Given the description of an element on the screen output the (x, y) to click on. 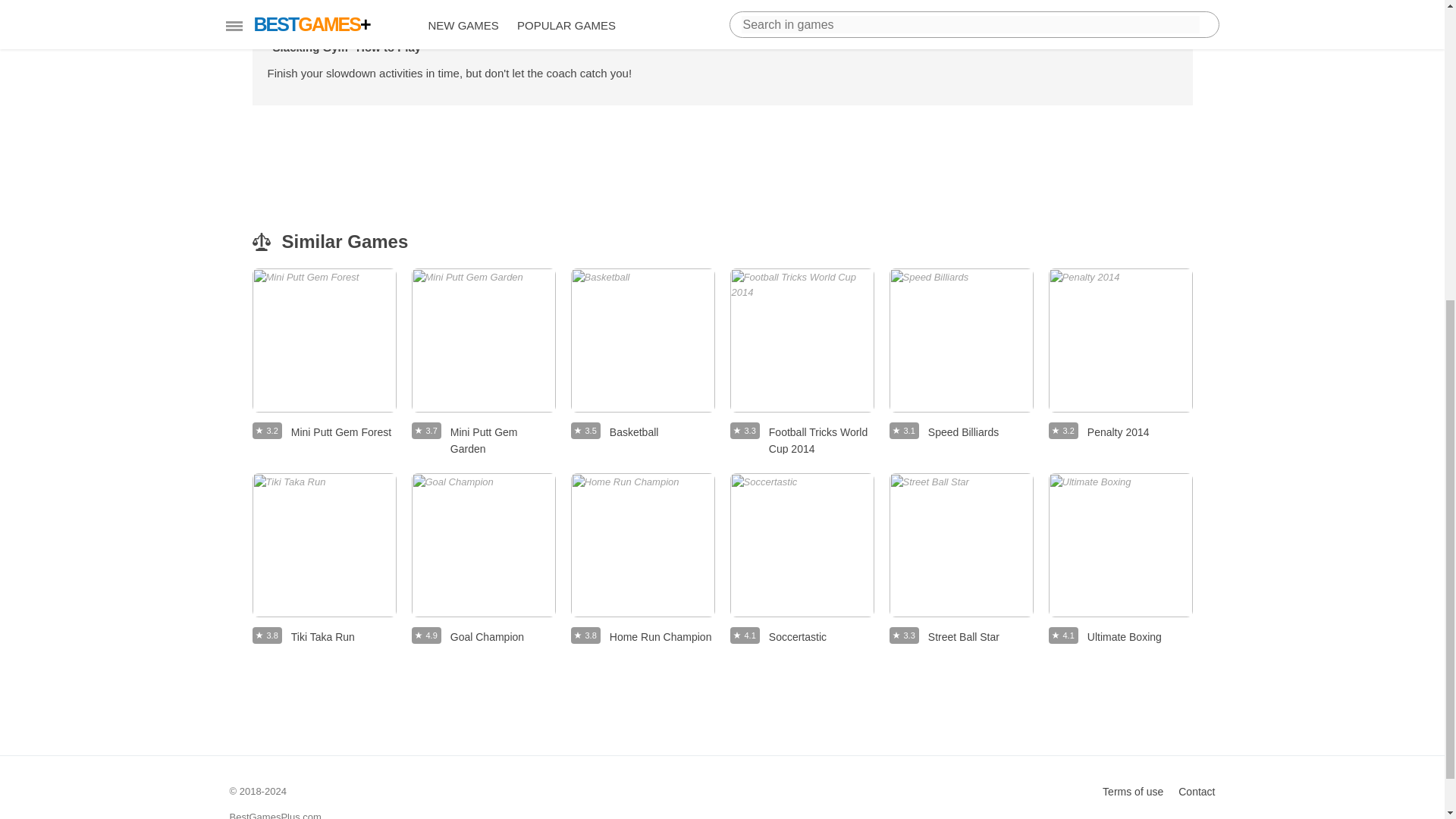
Soccertastic (801, 545)
Mini Putt Gem Garden (482, 340)
Tiki Taka Run (323, 545)
Mini Putt Gem Forest (323, 340)
Speed Billiards (960, 340)
Street Ball Star (801, 561)
Home Run Champion (960, 545)
Football Tricks World Cup 2014 (642, 545)
